Given the description of an element on the screen output the (x, y) to click on. 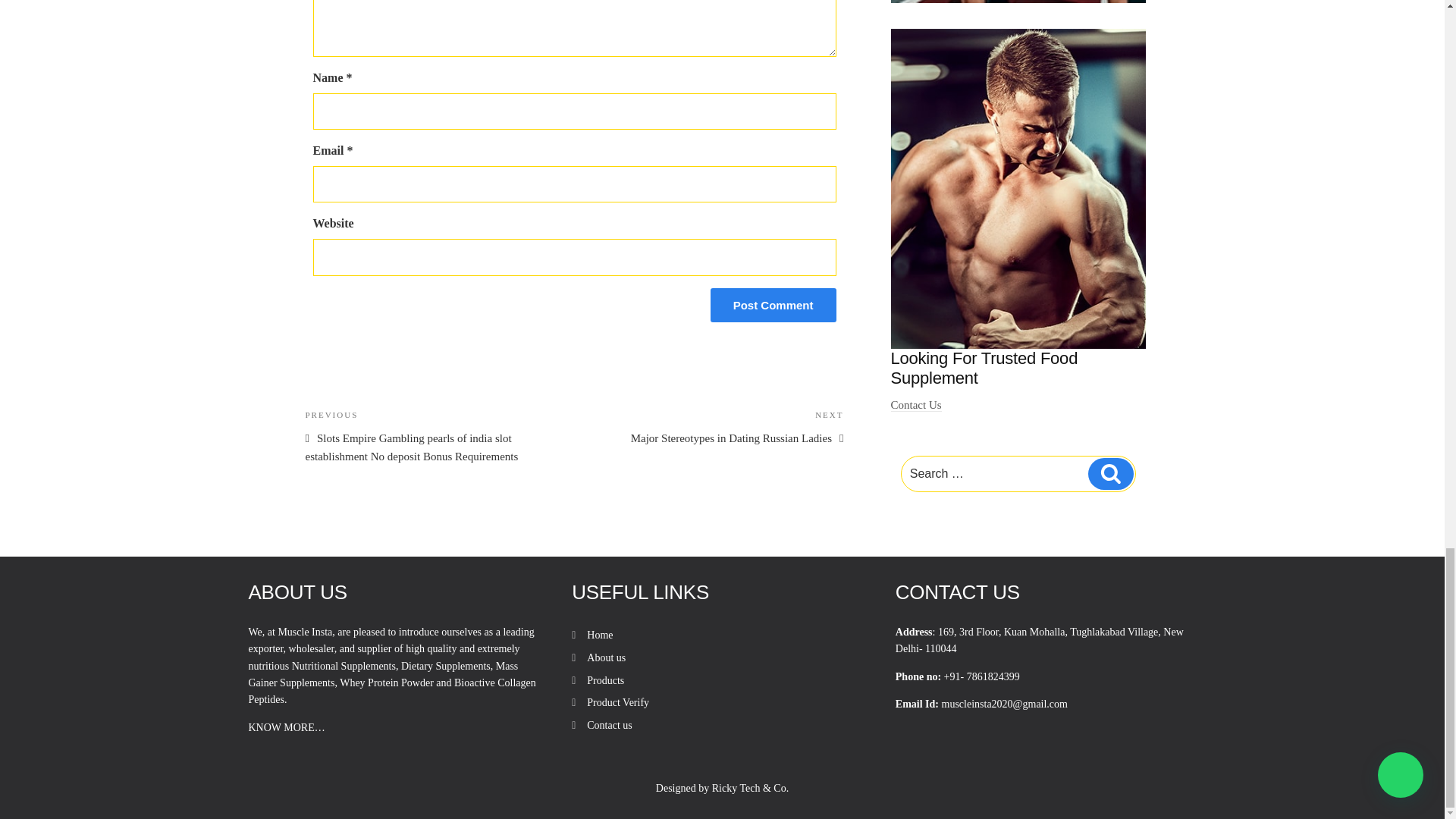
About us (716, 426)
Post Comment (606, 657)
Contact us (772, 305)
Contact Us (608, 725)
Products (916, 404)
Home (605, 680)
Post Comment (599, 634)
Search (772, 305)
Product Verify (1109, 473)
